Given the description of an element on the screen output the (x, y) to click on. 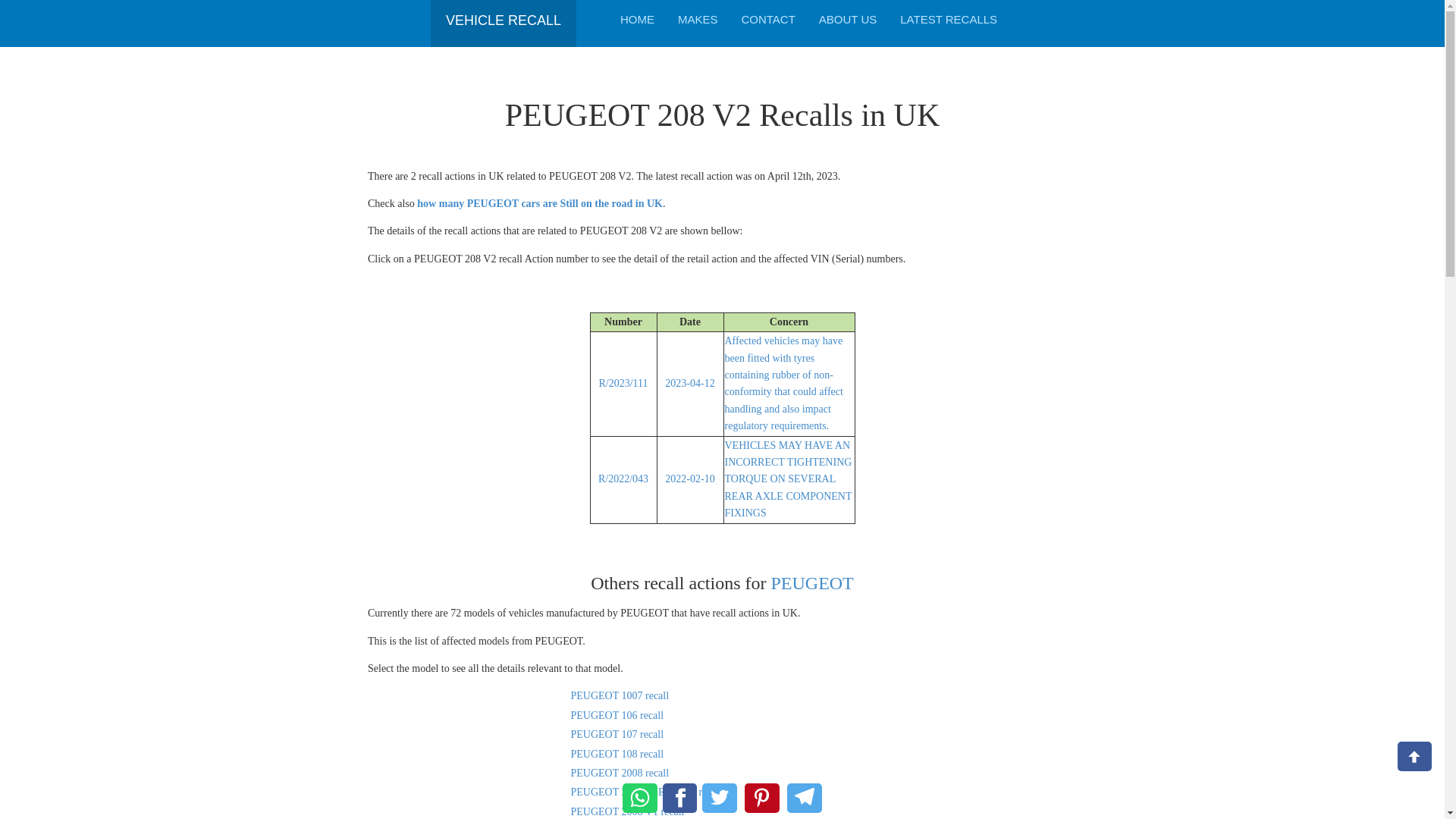
how many PEUGEOT cars are Still on the road in UK (539, 203)
PEUGEOT 2008 Recalls in UK (619, 772)
ABOUT US (848, 19)
2022-02-10 (689, 478)
PEUGEOT 2008 V1 recall (627, 811)
PEUGEOT 2008 recall (619, 772)
VEHICLE RECALL (502, 15)
PEUGEOT (811, 582)
CONTACT (767, 19)
